Given the description of an element on the screen output the (x, y) to click on. 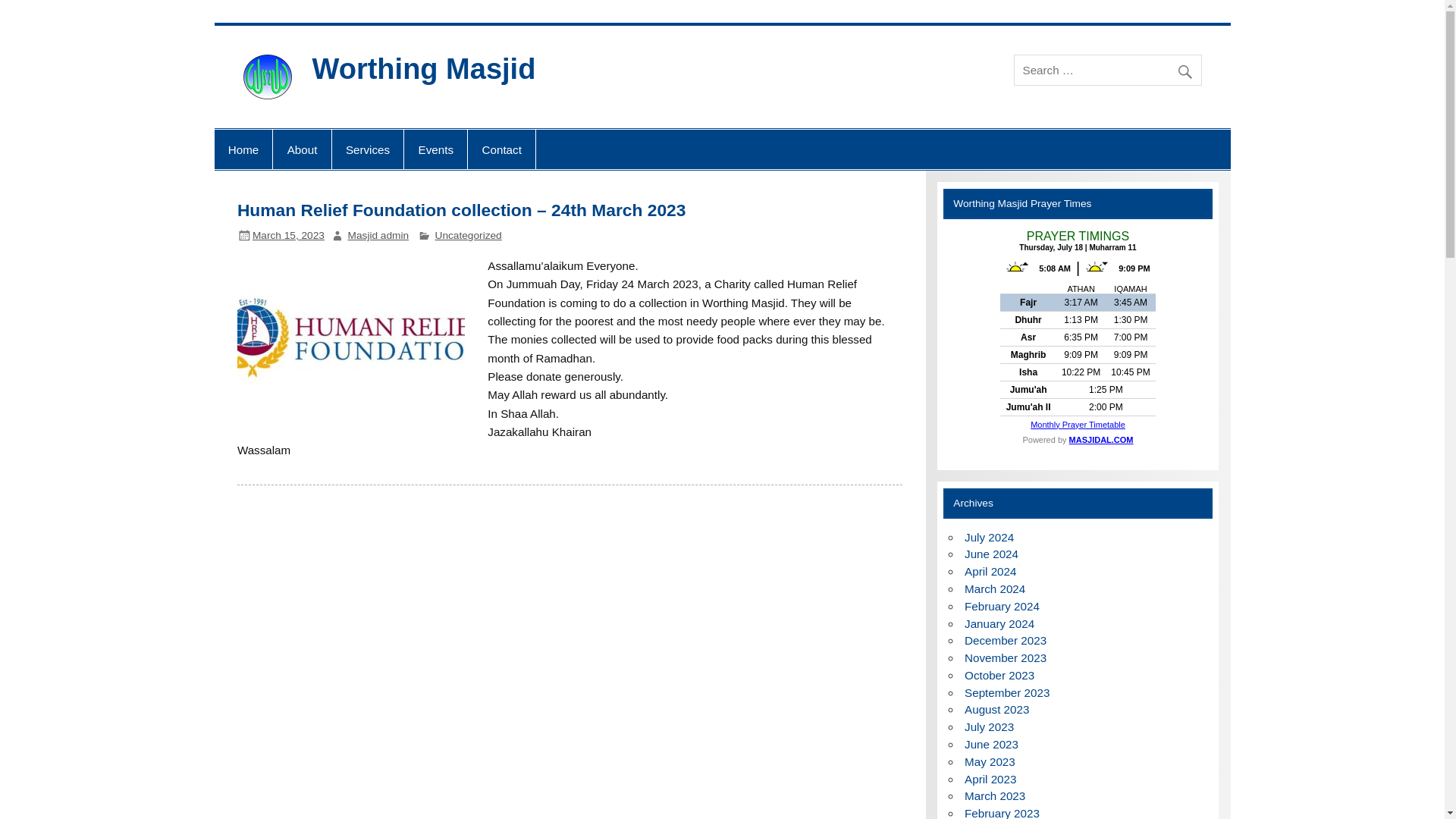
March 2024 (994, 588)
Home (243, 148)
March 15, 2023 (287, 235)
View all posts by Masjid admin (378, 235)
April 2024 (989, 571)
Worthing Masjid (424, 69)
7:04 am (287, 235)
Contact (501, 148)
September 2023 (1006, 692)
November 2023 (1004, 657)
Services (367, 148)
December 2023 (1004, 640)
Uncategorized (468, 235)
July 2024 (988, 536)
January 2024 (998, 623)
